Given the description of an element on the screen output the (x, y) to click on. 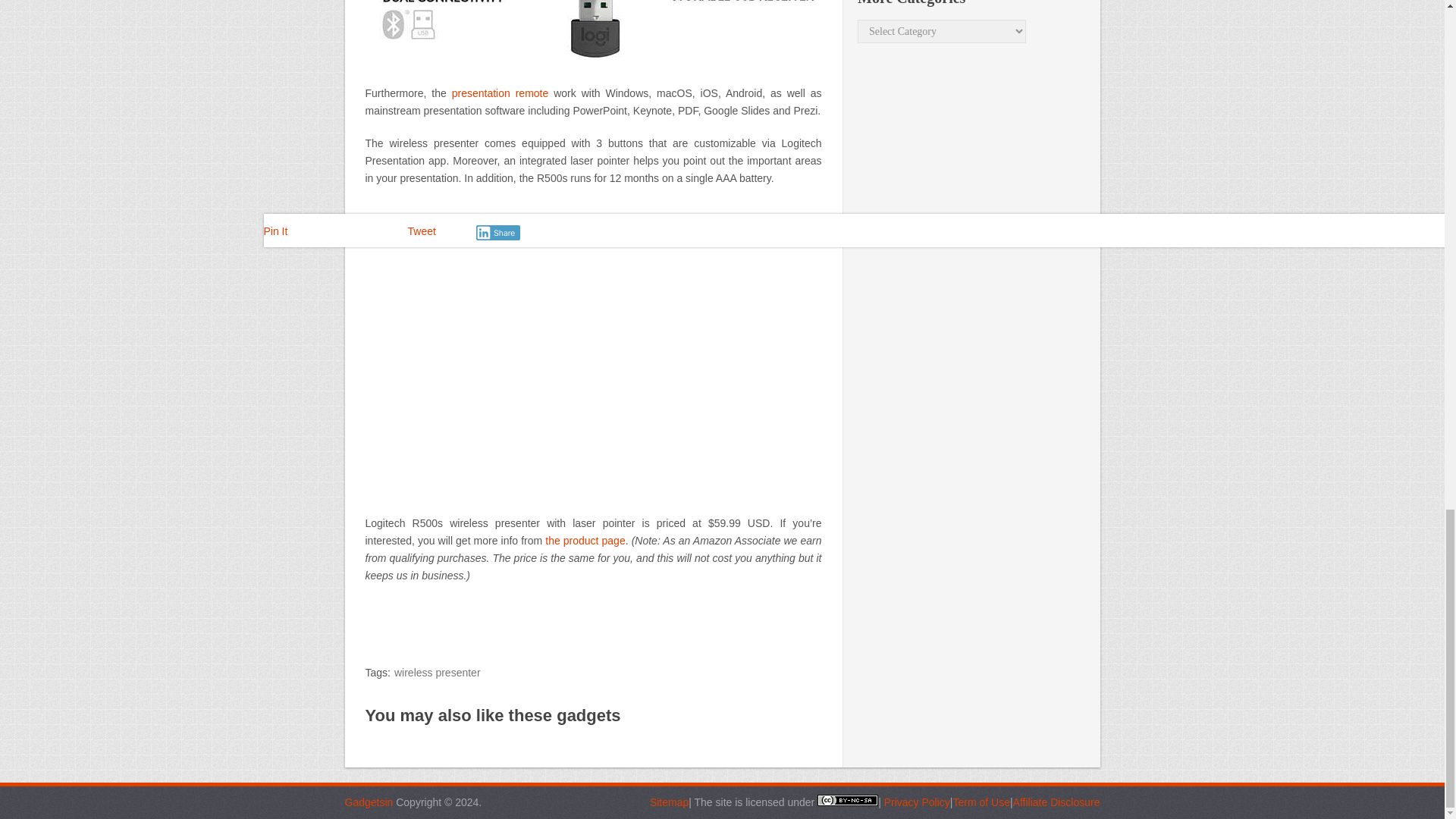
the product page (584, 540)
presentation remote (499, 92)
YouTube video player (593, 348)
wireless presenter (437, 672)
